Given the description of an element on the screen output the (x, y) to click on. 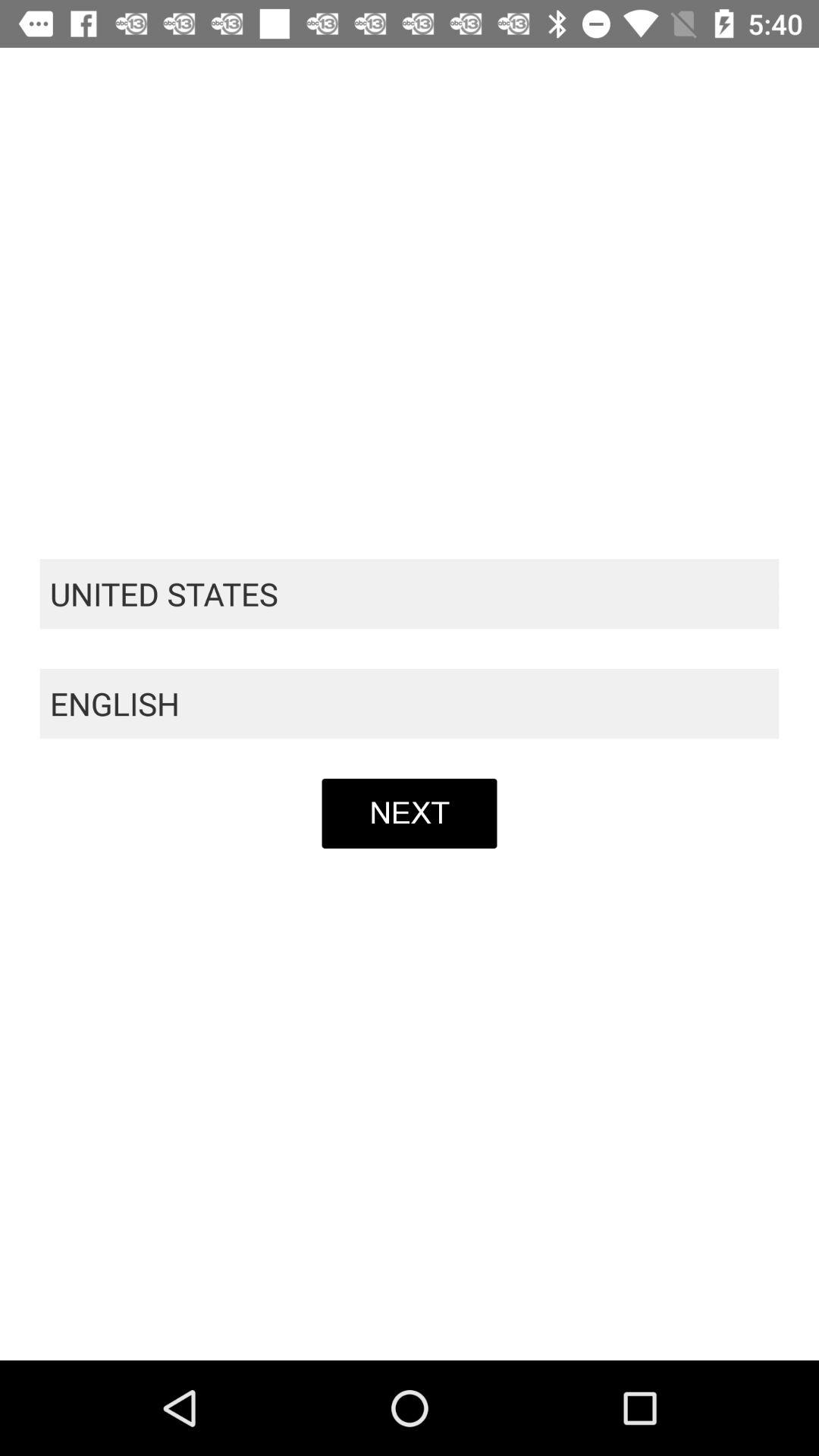
tap next (409, 813)
